Given the description of an element on the screen output the (x, y) to click on. 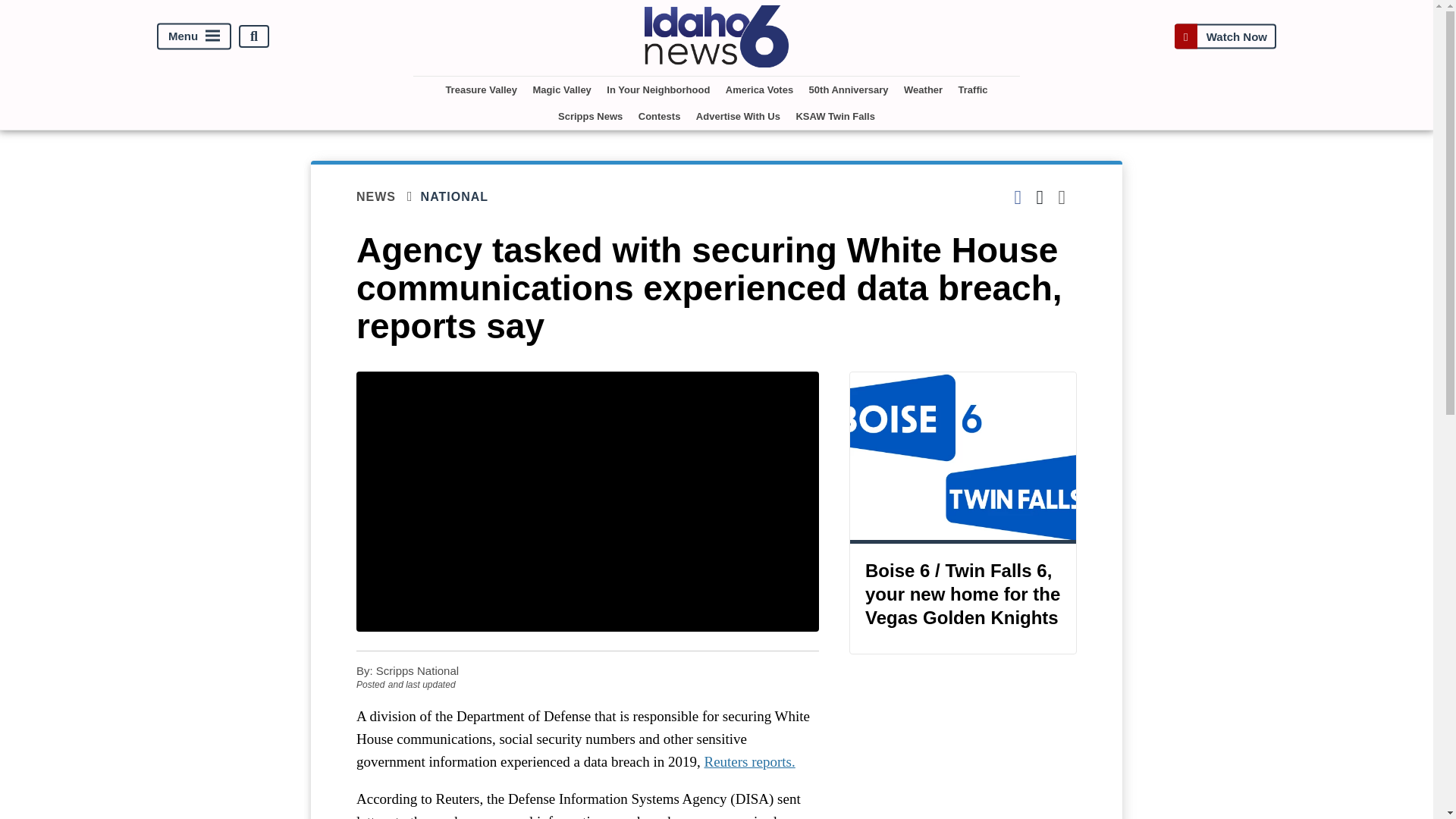
Watch Now (1224, 36)
Menu (194, 36)
